Given the description of an element on the screen output the (x, y) to click on. 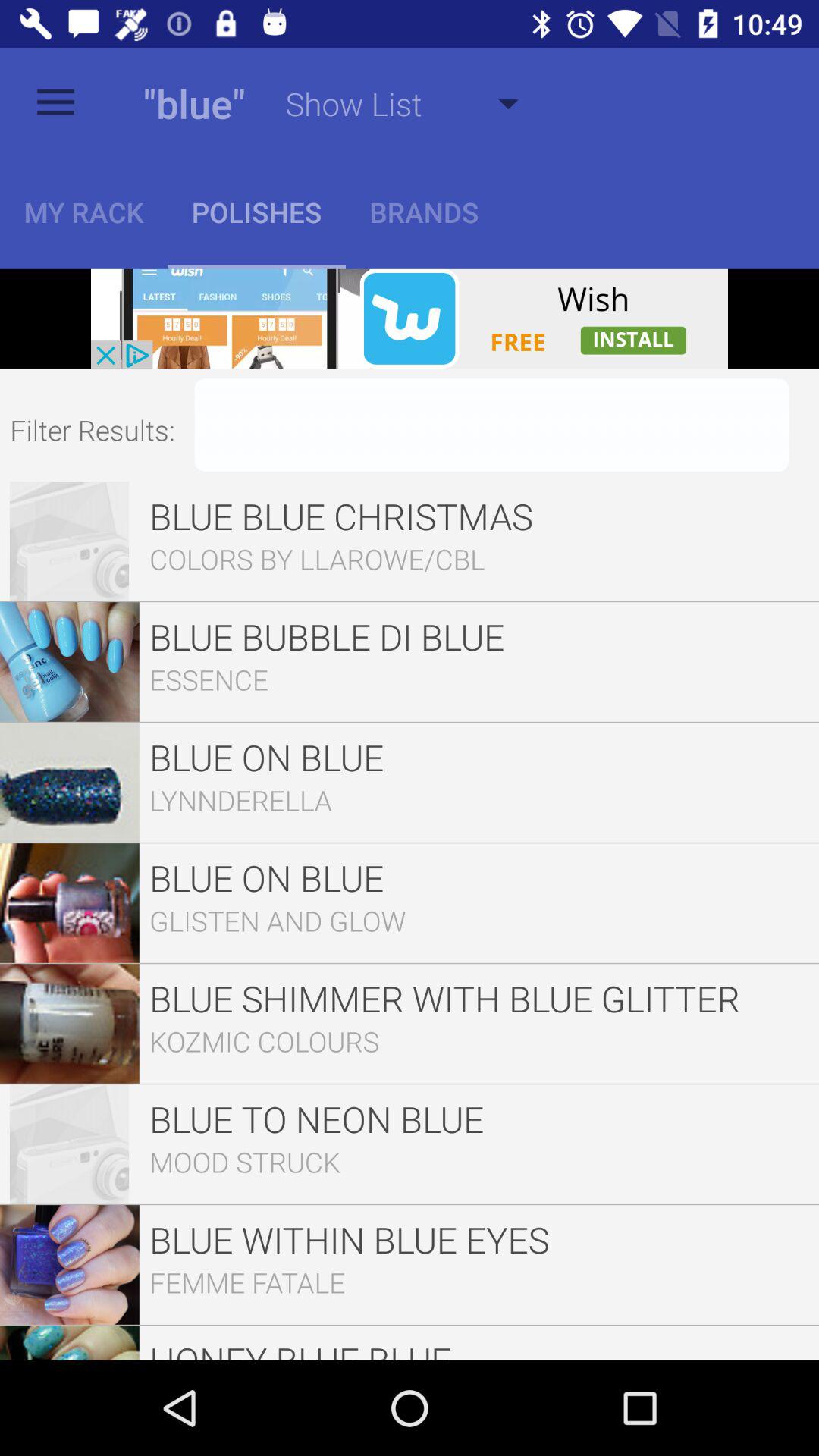
view advertisement (409, 318)
